Given the description of an element on the screen output the (x, y) to click on. 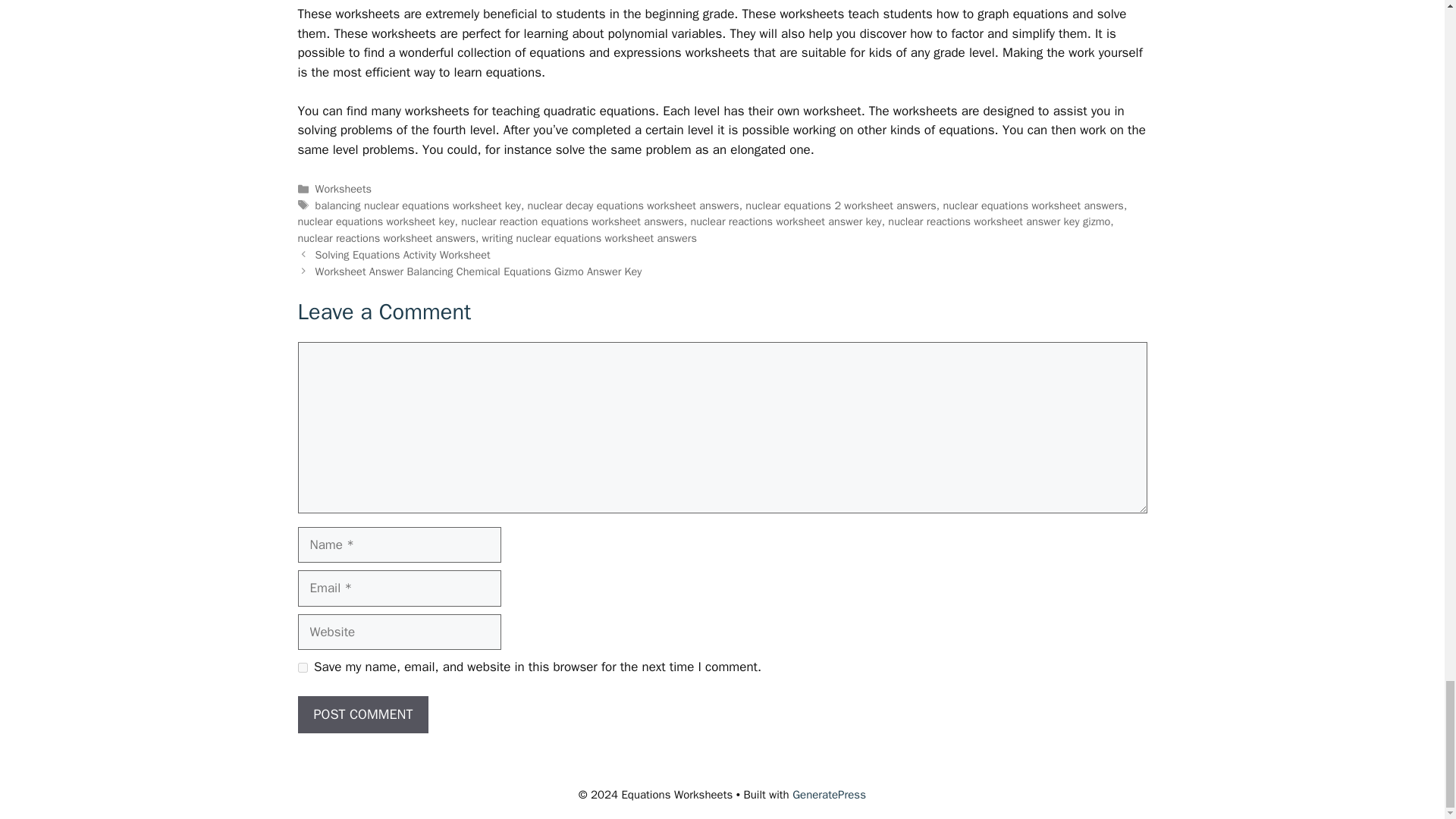
nuclear reactions worksheet answers (385, 237)
nuclear equations worksheet answers (1032, 205)
GeneratePress (829, 794)
Solving Equations Activity Worksheet (402, 254)
nuclear reactions worksheet answer key (785, 221)
nuclear equations 2 worksheet answers (840, 205)
Worksheets (343, 188)
yes (302, 667)
Post Comment (362, 714)
nuclear equations worksheet key (375, 221)
nuclear reaction equations worksheet answers (572, 221)
nuclear reactions worksheet answer key gizmo (998, 221)
balancing nuclear equations worksheet key (418, 205)
writing nuclear equations worksheet answers (589, 237)
